Given the description of an element on the screen output the (x, y) to click on. 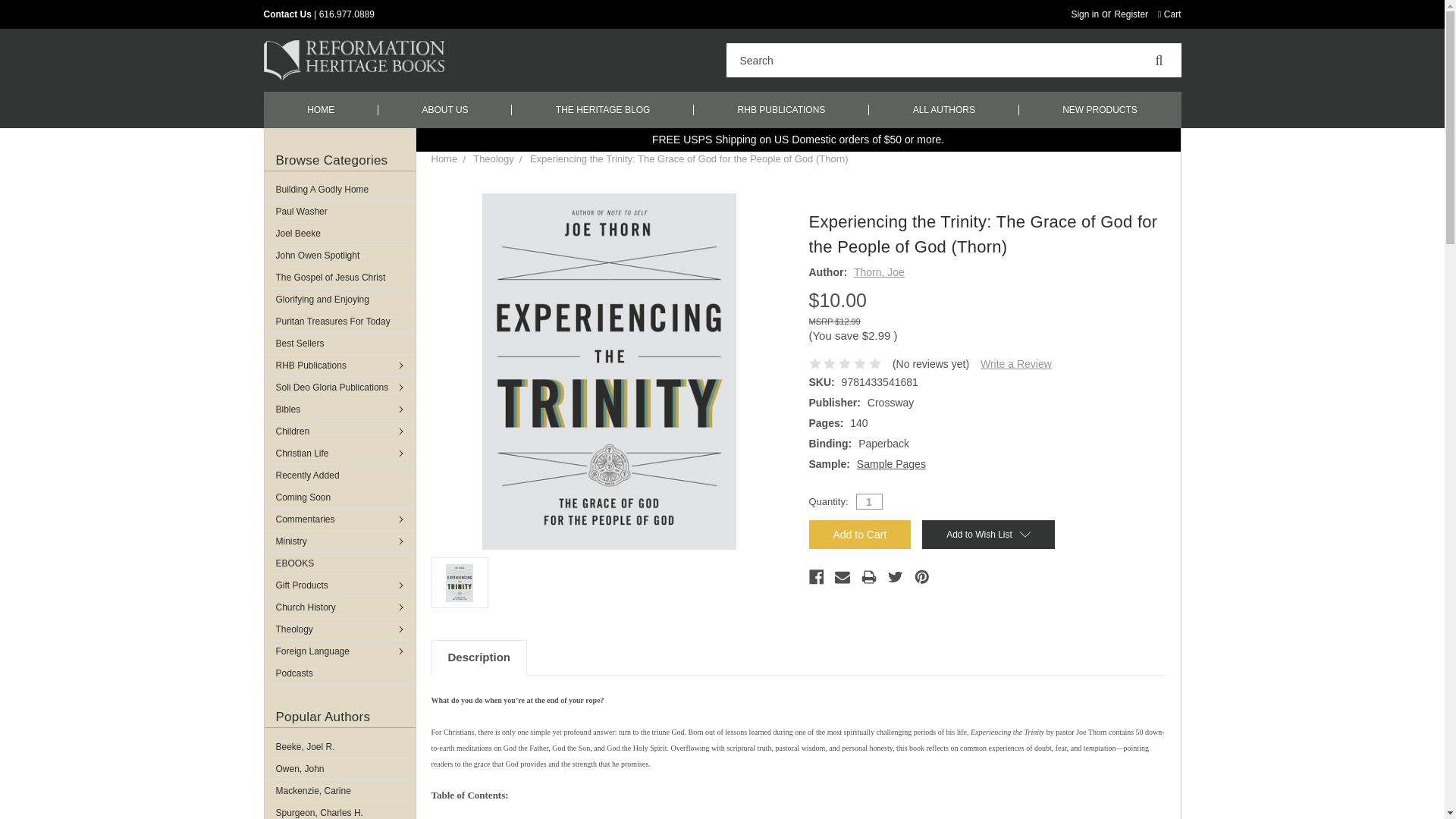
pinterest (922, 576)
Sign in (1084, 14)
email (842, 576)
1 (869, 501)
The Gospel of Jesus Christ (338, 277)
print (868, 576)
Paul Washer (338, 210)
Puritan Treasures For Today (338, 321)
twitter (895, 576)
HOME (320, 109)
Best Sellers (338, 342)
Joel Beeke (338, 233)
ABOUT US (445, 109)
facebook (816, 576)
John Owen Spotlight (338, 255)
